Given the description of an element on the screen output the (x, y) to click on. 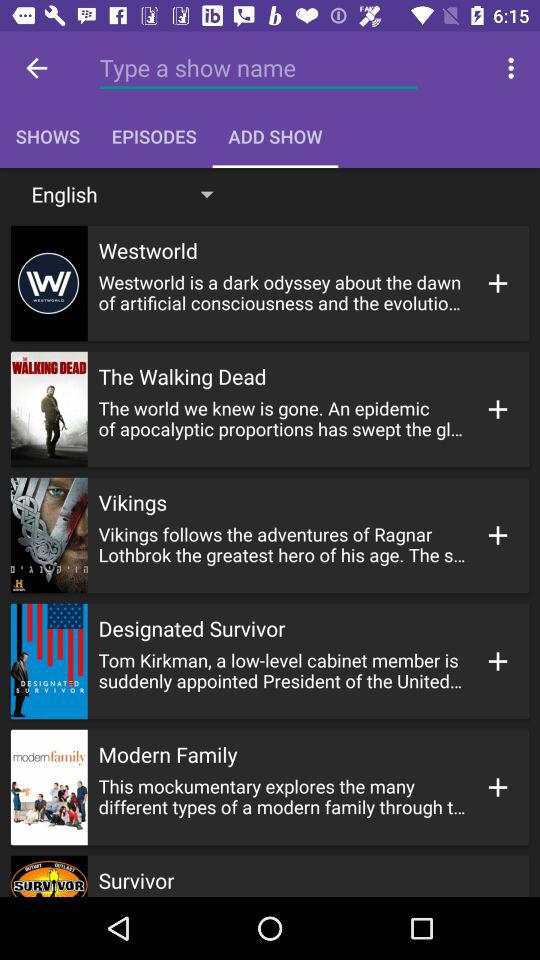
type a show name (258, 67)
